Given the description of an element on the screen output the (x, y) to click on. 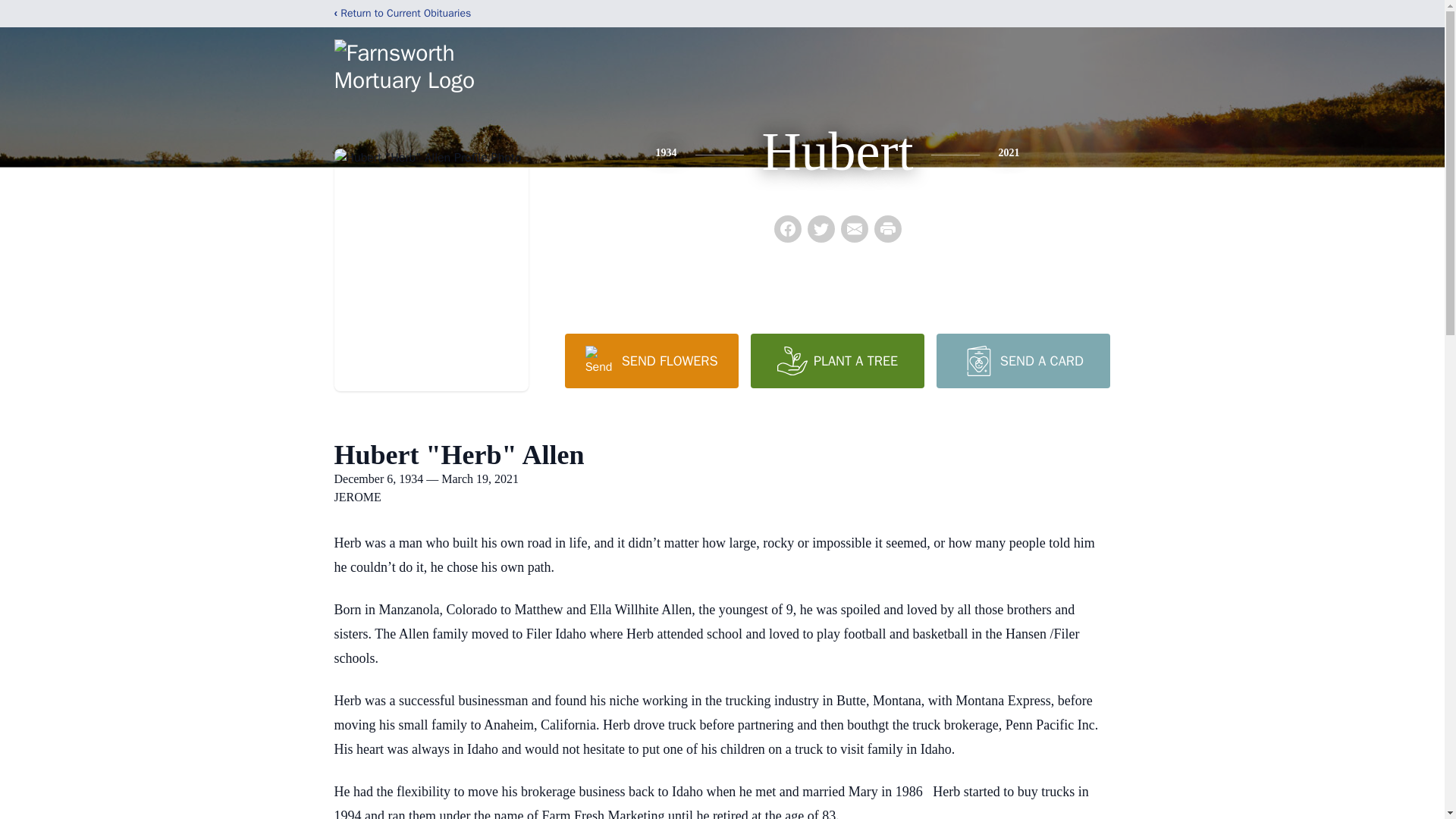
PLANT A TREE (837, 360)
SEND A CARD (1022, 360)
SEND FLOWERS (651, 360)
